Given the description of an element on the screen output the (x, y) to click on. 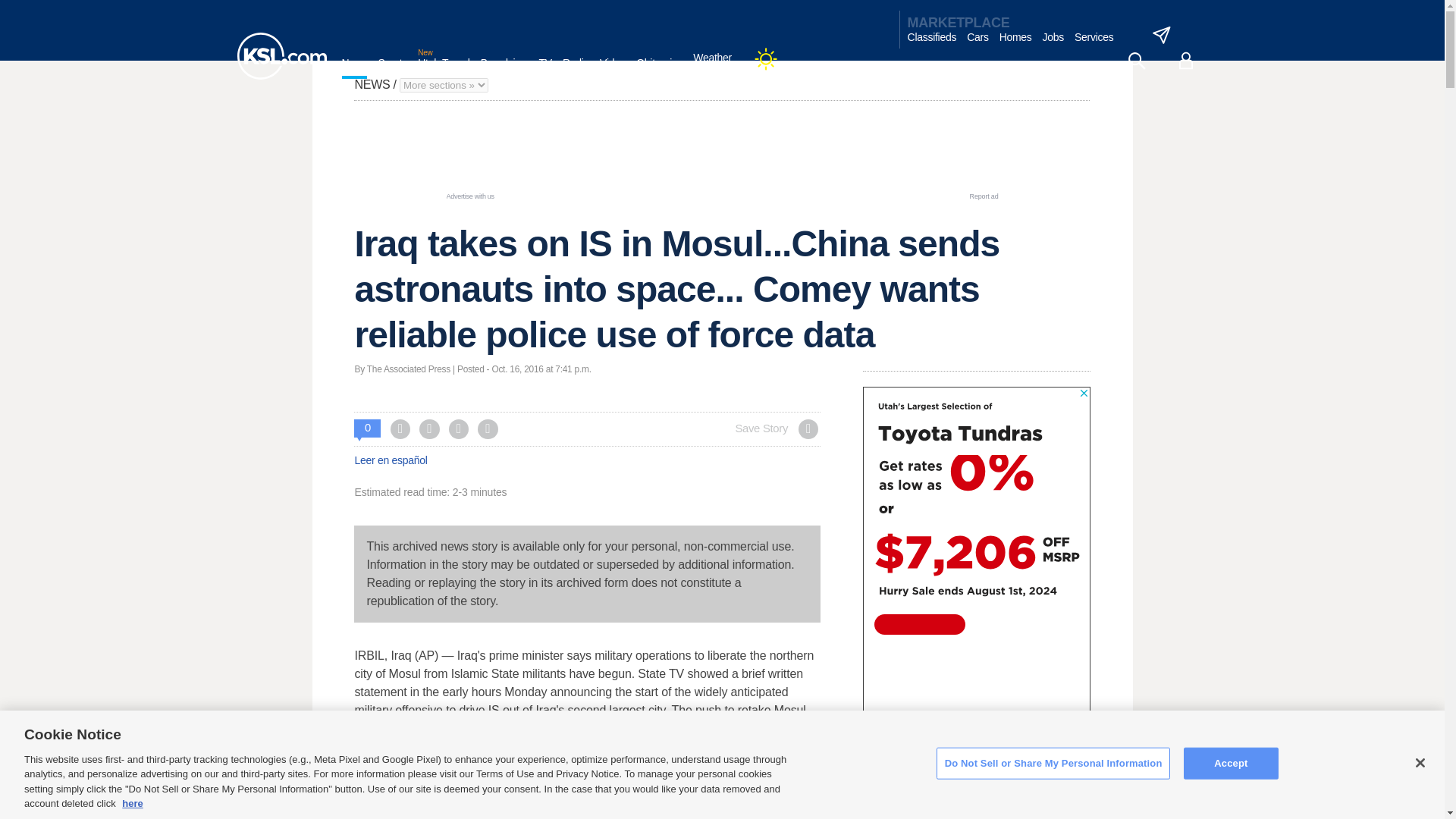
3rd party ad content (721, 156)
search (1135, 60)
KSL homepage (280, 55)
account - logged out (1185, 60)
